Given the description of an element on the screen output the (x, y) to click on. 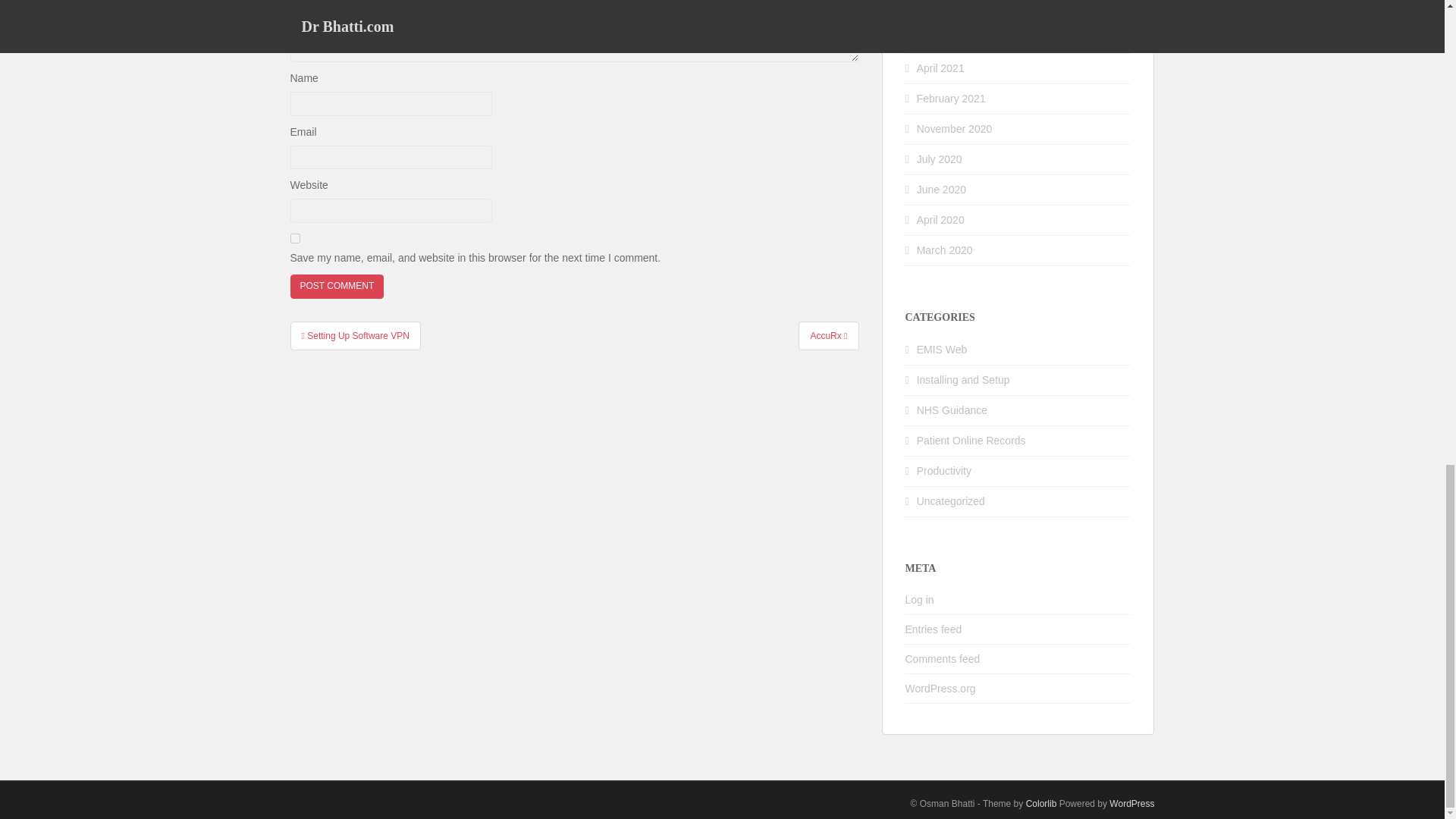
yes (294, 238)
Post Comment (336, 286)
July 2021 (939, 7)
April 2021 (940, 68)
Post Comment (336, 286)
AccuRx (828, 335)
November 2020 (954, 128)
May 2021 (939, 37)
February 2021 (951, 98)
Setting Up Software VPN (354, 335)
